Given the description of an element on the screen output the (x, y) to click on. 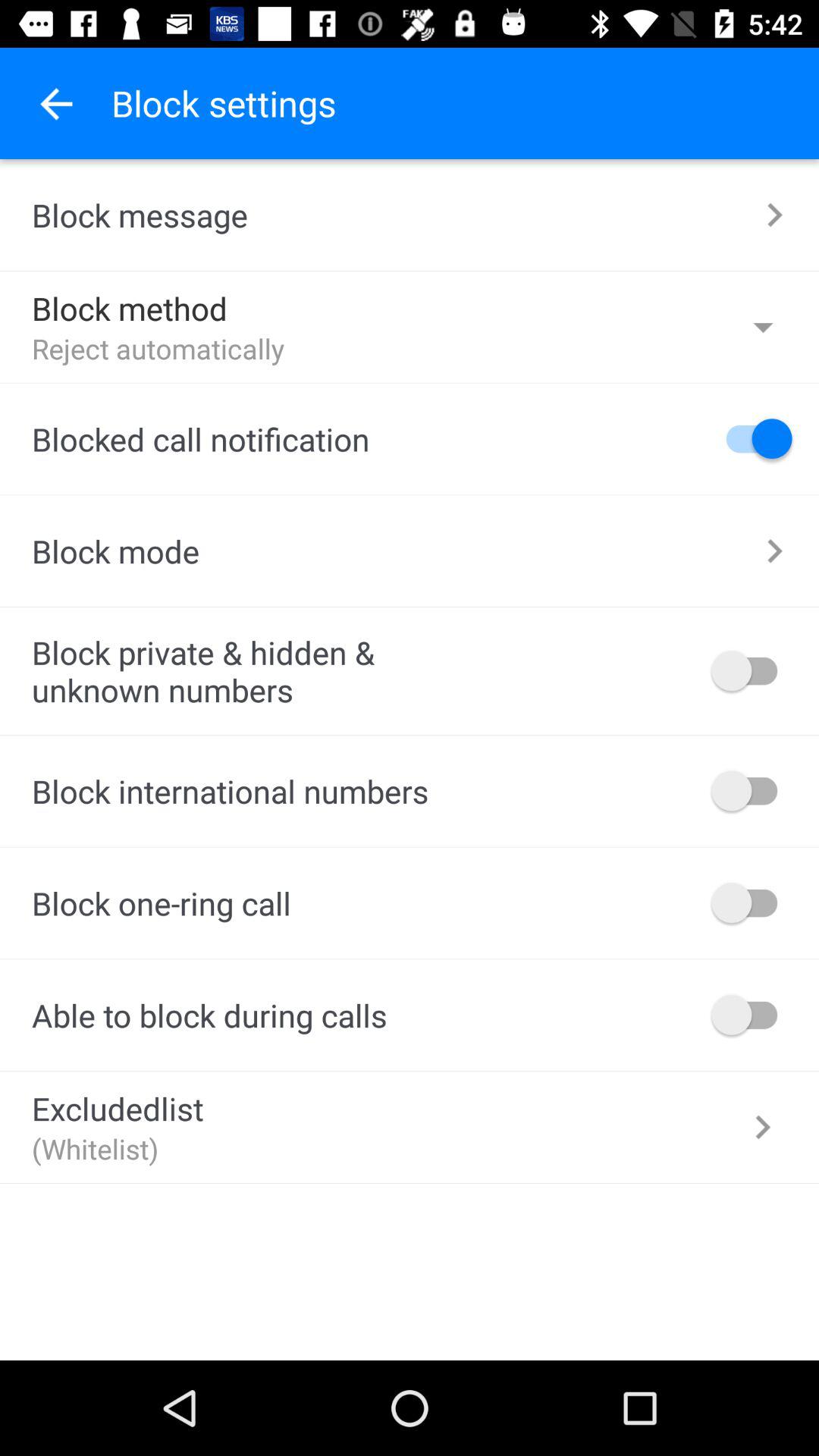
toggled the block private hidden unknown numbers (751, 670)
